Given the description of an element on the screen output the (x, y) to click on. 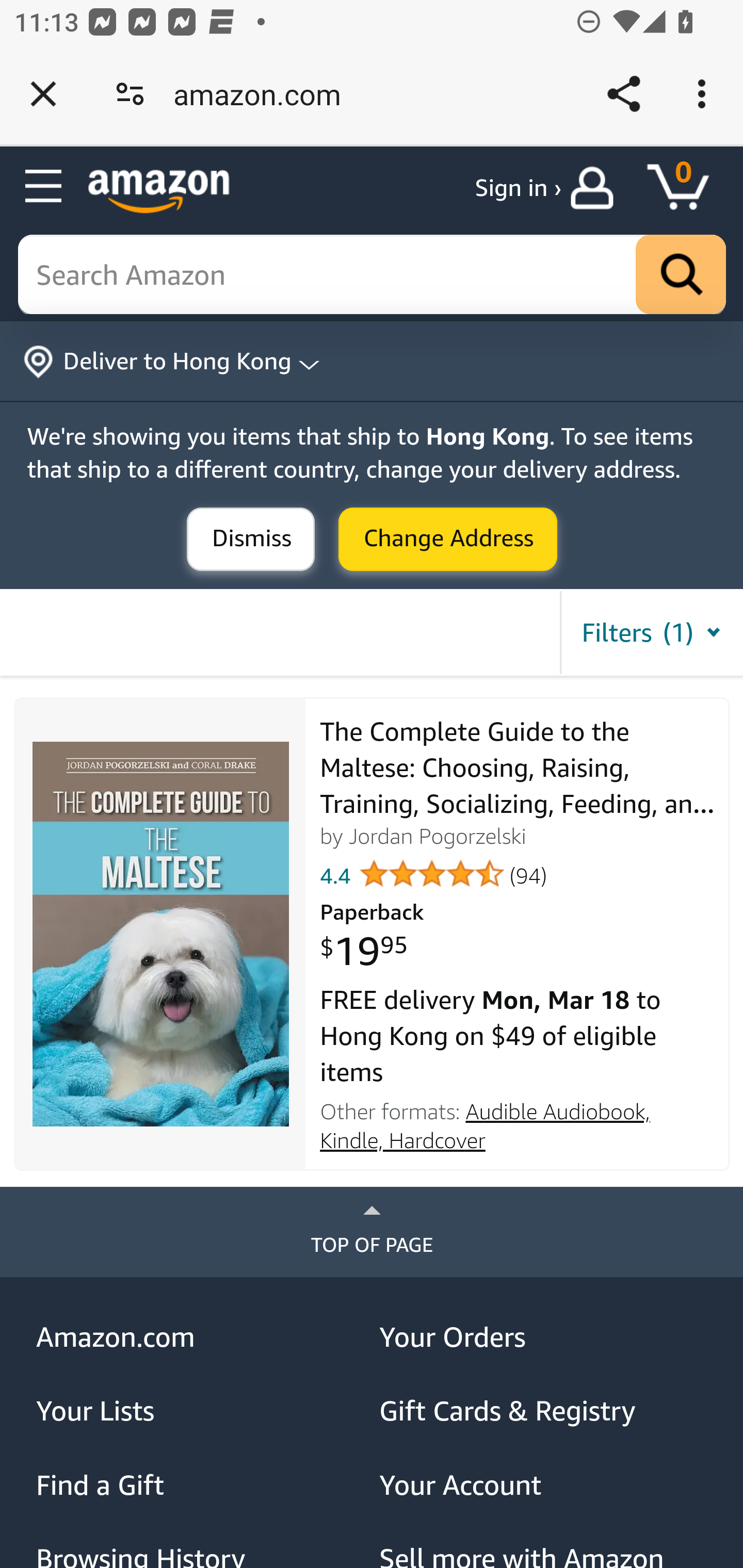
Close tab (43, 93)
Share (623, 93)
Customize and control Google Chrome (705, 93)
Connection is secure (129, 93)
amazon.com (264, 93)
Open Menu (44, 187)
Sign in › (518, 188)
your account (596, 188)
Cart 0 (687, 188)
Amazon (158, 191)
Clear search keywords (372, 275)
Go (681, 275)
Submit (250, 539)
Submit (447, 539)
Filters (1) (651, 632)
Top of page TOP OF PAGE (371, 1231)
Amazon.com (201, 1336)
Your Orders (543, 1336)
Your Lists (201, 1410)
Gift Cards & Registry (543, 1410)
Find a Gift (201, 1484)
Your Account (543, 1484)
Browsing History (201, 1555)
Sell more with Amazon (543, 1555)
